Given the description of an element on the screen output the (x, y) to click on. 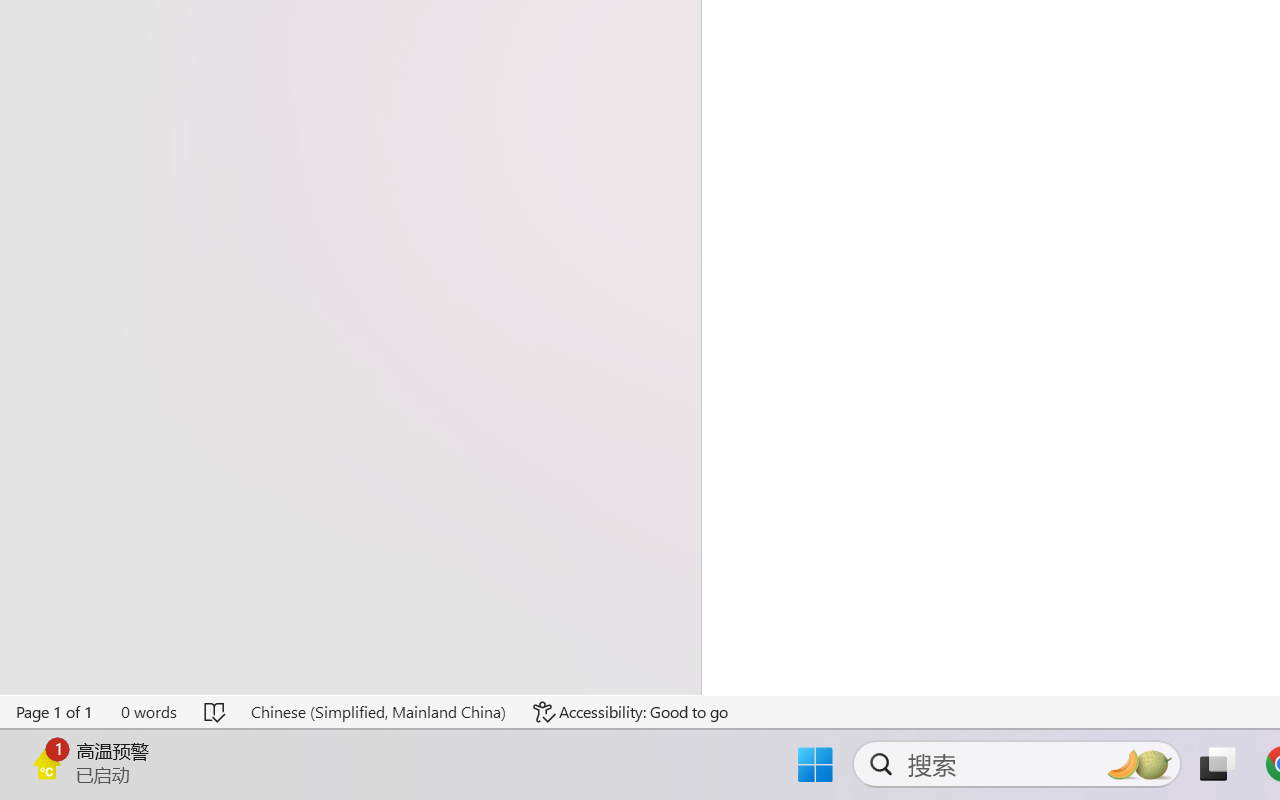
Language Chinese (Simplified, Mainland China) (378, 712)
